Given the description of an element on the screen output the (x, y) to click on. 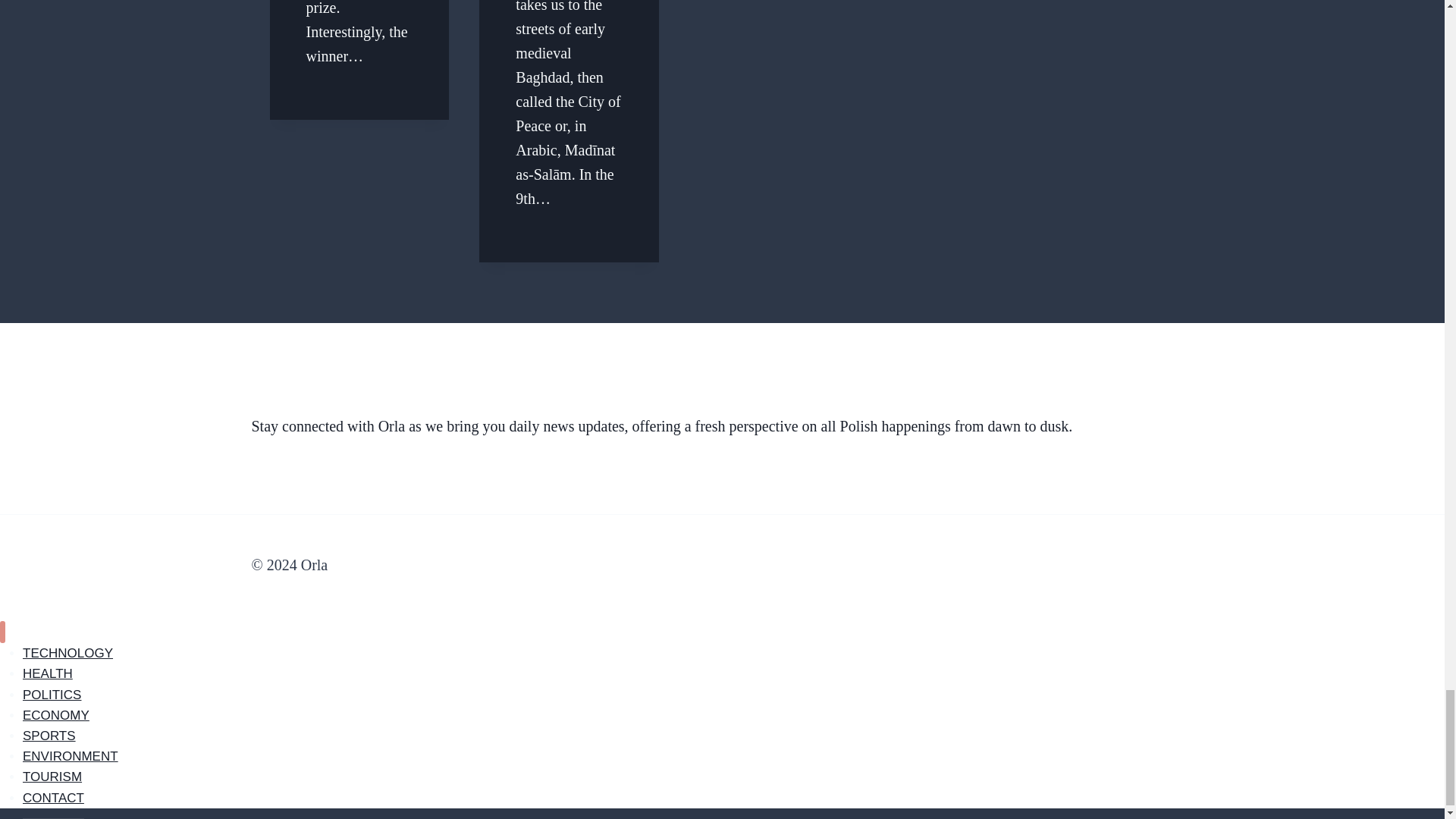
HEALTH (47, 673)
POLITICS (52, 694)
TECHNOLOGY (68, 653)
